Given the description of an element on the screen output the (x, y) to click on. 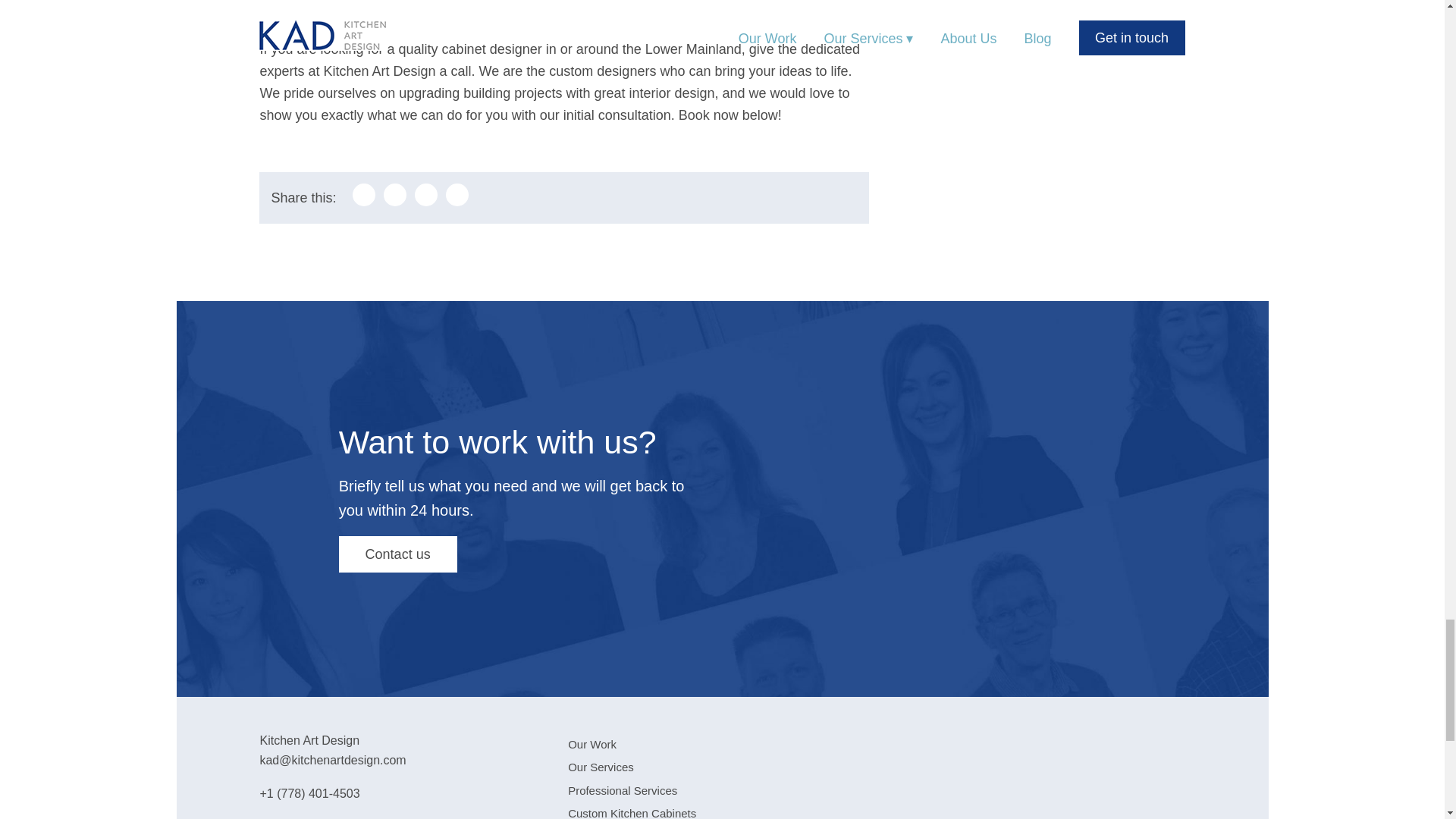
Contact us (398, 554)
Custom Kitchen Cabinets (631, 812)
Our Work (591, 744)
Our Services (600, 766)
Professional Services (622, 789)
